Given the description of an element on the screen output the (x, y) to click on. 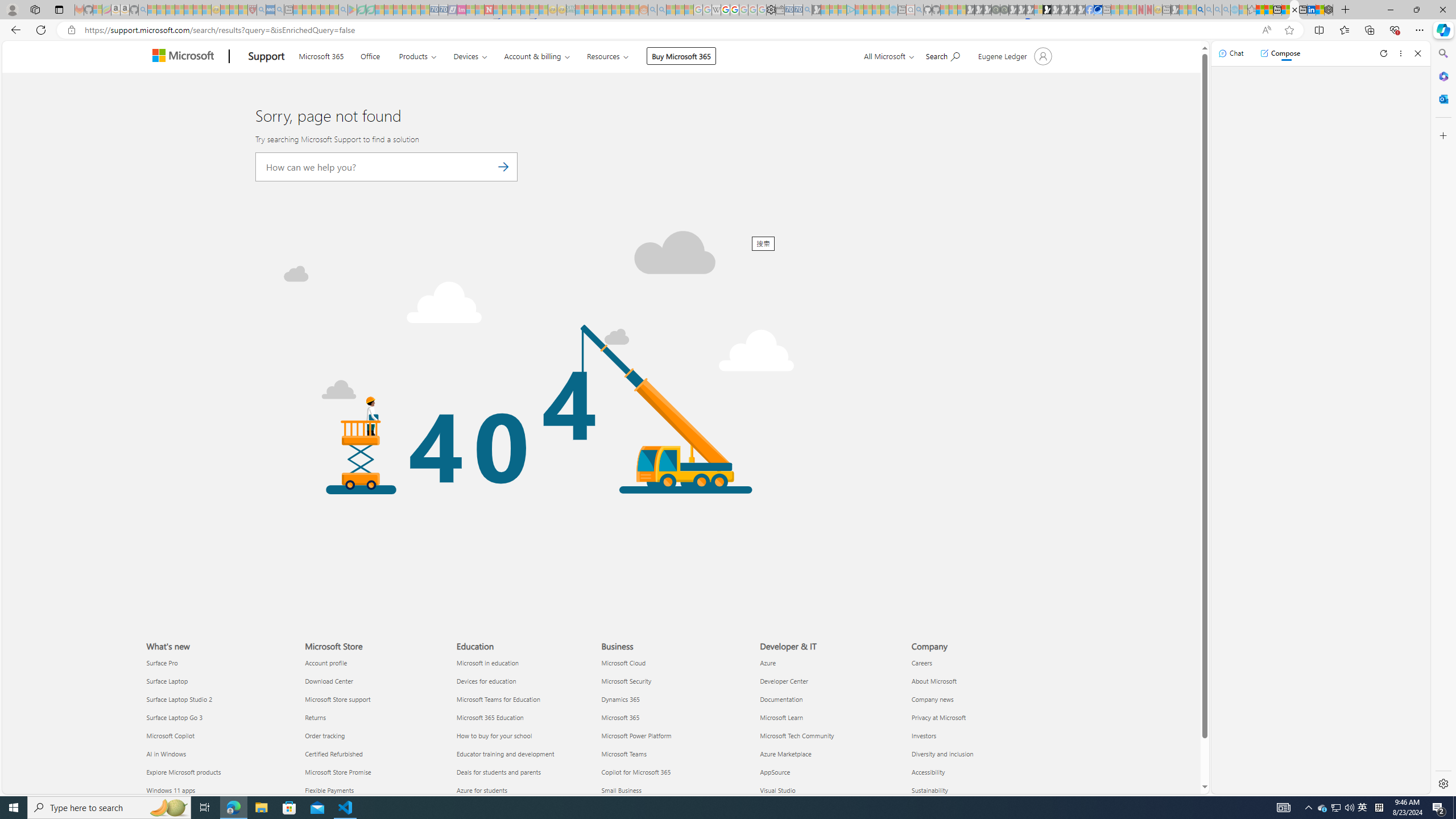
Bing AI - Search (1200, 9)
Azure for students Education (480, 789)
Returns (373, 717)
Microsoft Security (673, 680)
Returns Microsoft Store (315, 716)
Sustainability (980, 789)
Careers (980, 662)
LinkedIn (1311, 9)
